Given the description of an element on the screen output the (x, y) to click on. 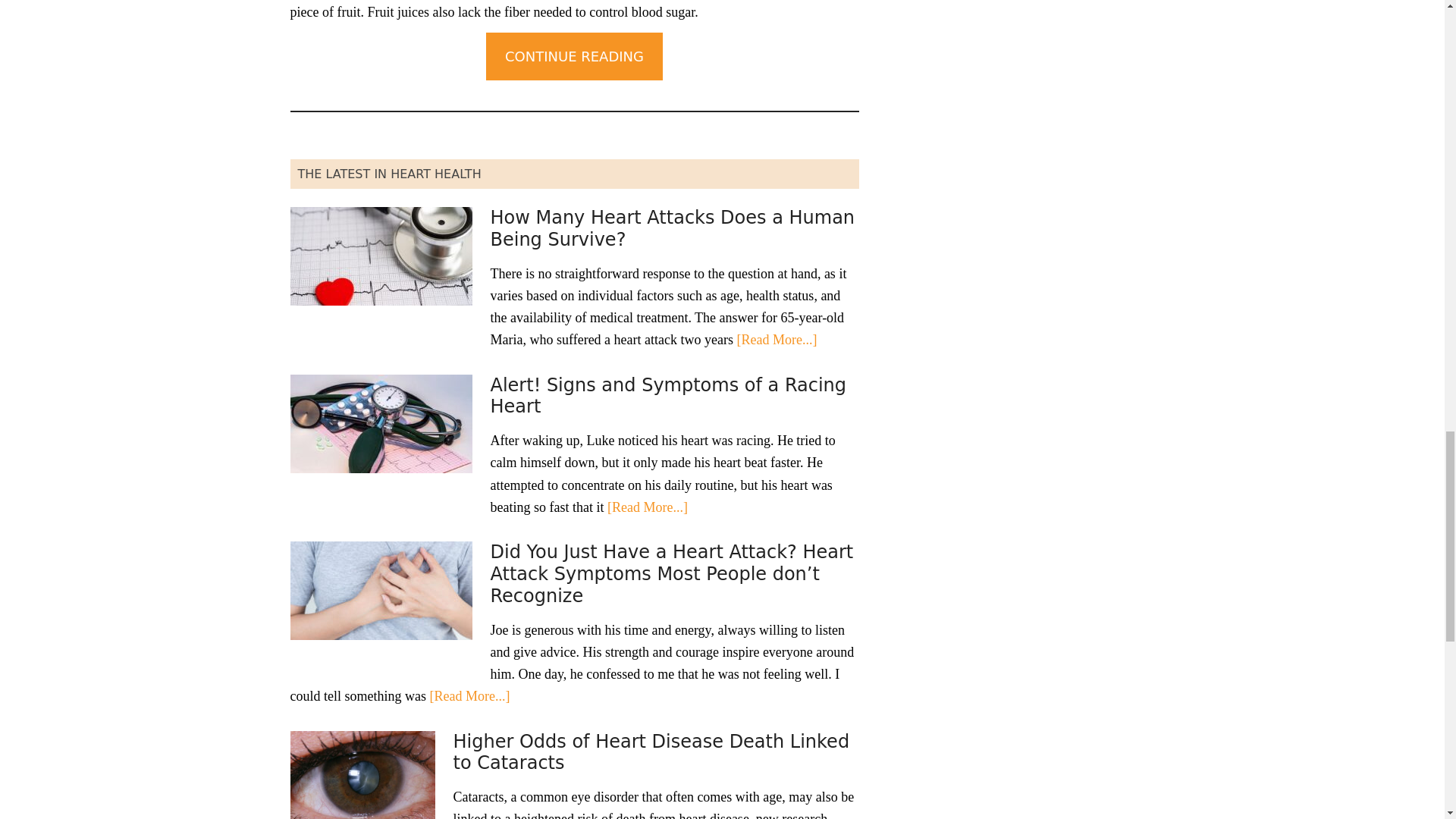
Alert! Signs and Symptoms of a Racing Heart (667, 395)
How Many Heart Attacks Does a Human Being Survive? (671, 228)
Higher Odds of Heart Disease Death Linked to Cataracts (651, 752)
CONTINUE READING (574, 55)
